Given the description of an element on the screen output the (x, y) to click on. 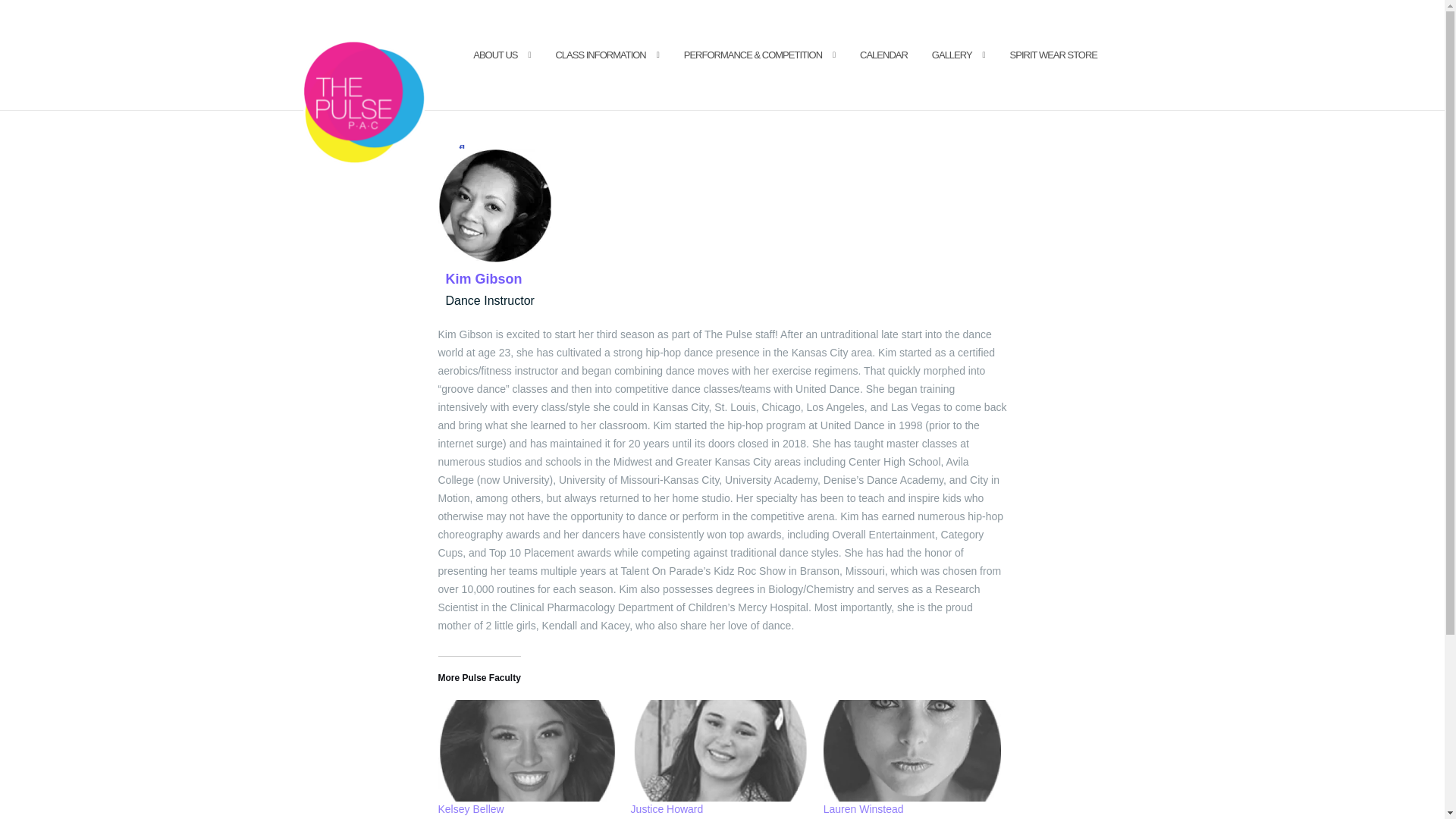
GALLERY (951, 55)
Class Information (599, 55)
CALENDAR (883, 55)
About Us (494, 55)
CLASS INFORMATION (599, 55)
ABOUT US (494, 55)
